Given the description of an element on the screen output the (x, y) to click on. 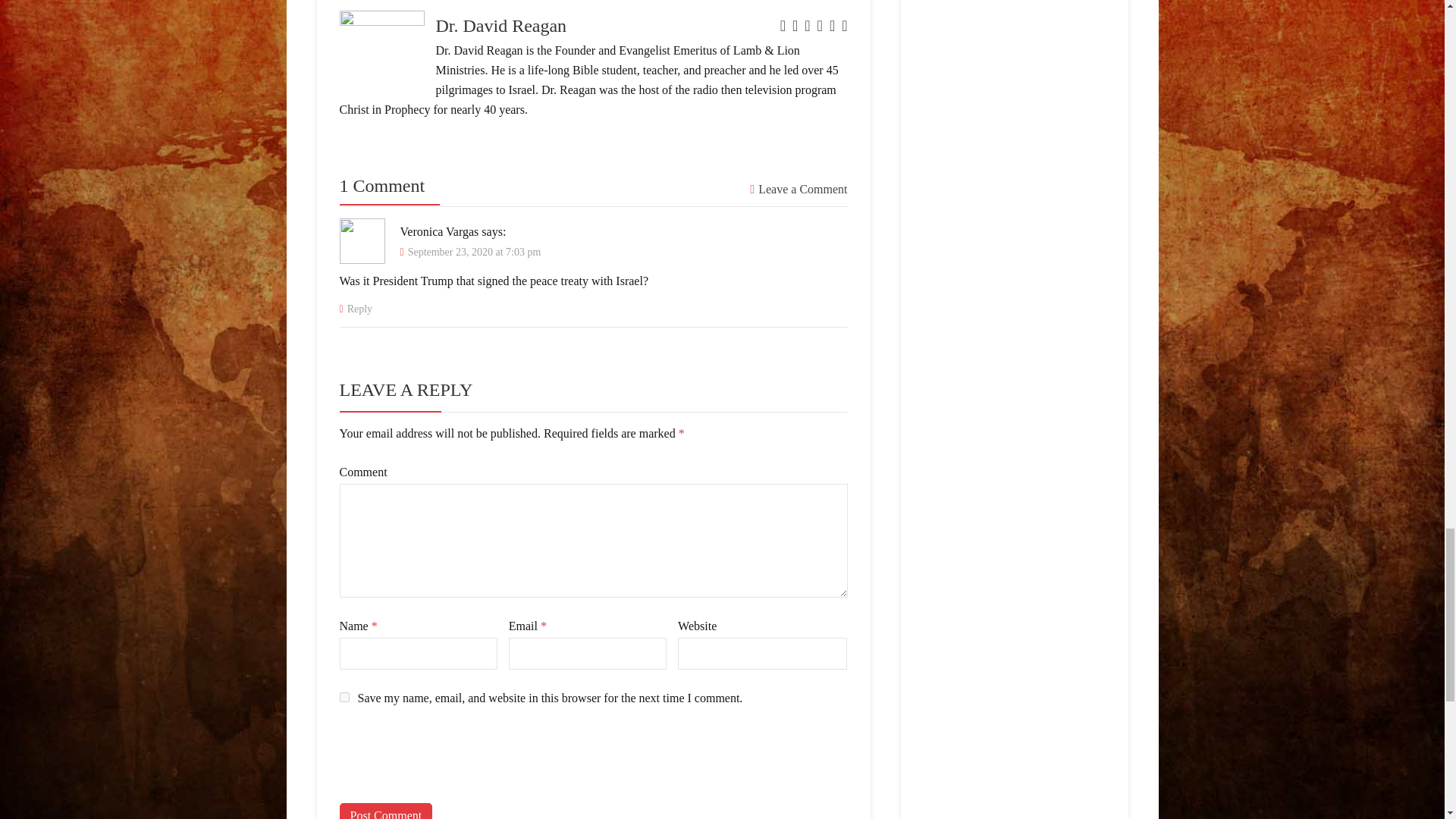
Post Comment (385, 811)
yes (344, 696)
